Given the description of an element on the screen output the (x, y) to click on. 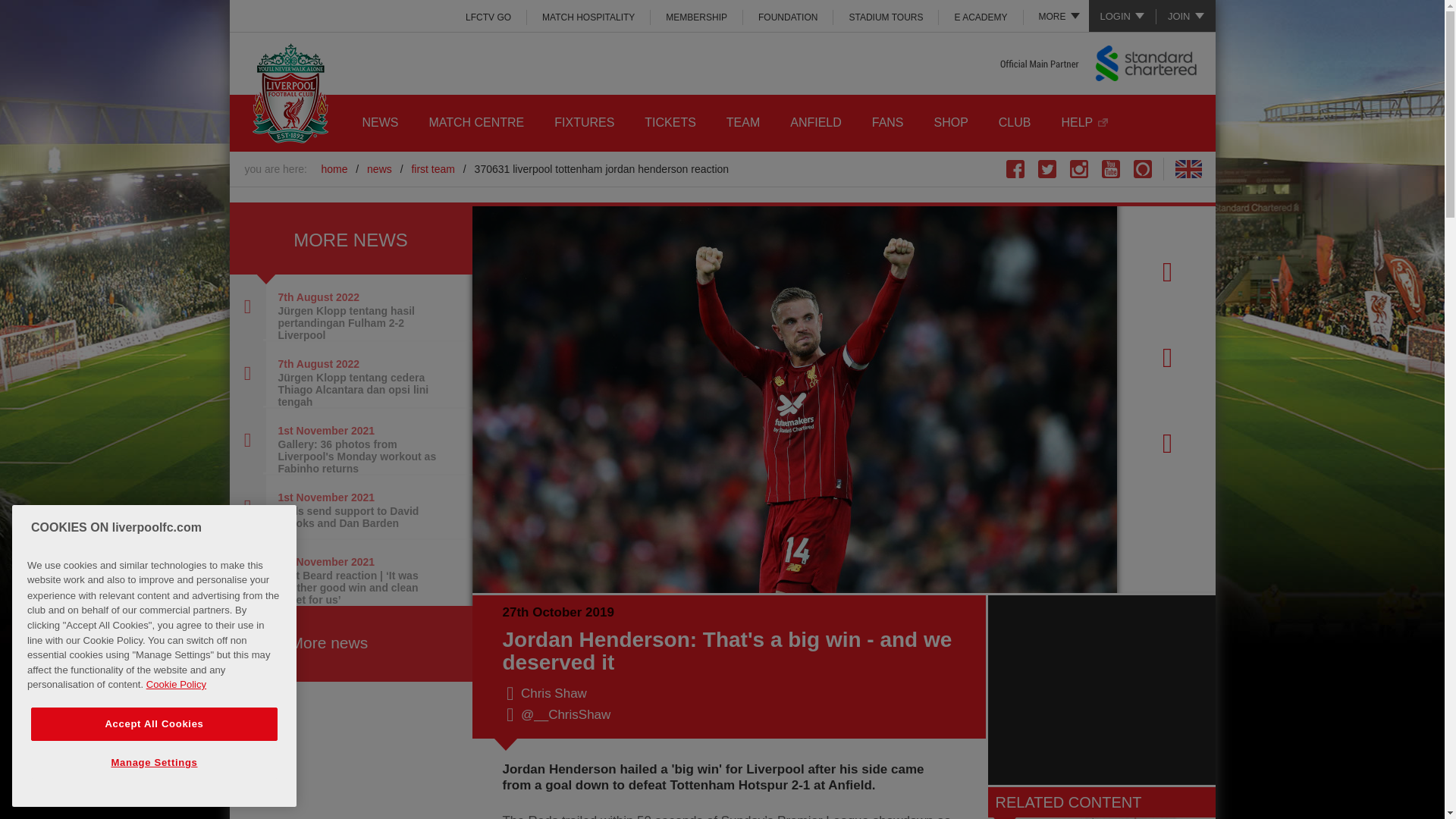
Go to The Official Liverpool Football Club Twitter page (1046, 169)
MEMBERSHIP (696, 17)
E ACADEMY (981, 17)
Go to The Official Liverpool Football Club Facebook page (1015, 169)
FOUNDATION (787, 17)
LOGIN (1122, 15)
STADIUM TOURS (885, 17)
JOIN (1185, 15)
Mail (1164, 445)
